Given the description of an element on the screen output the (x, y) to click on. 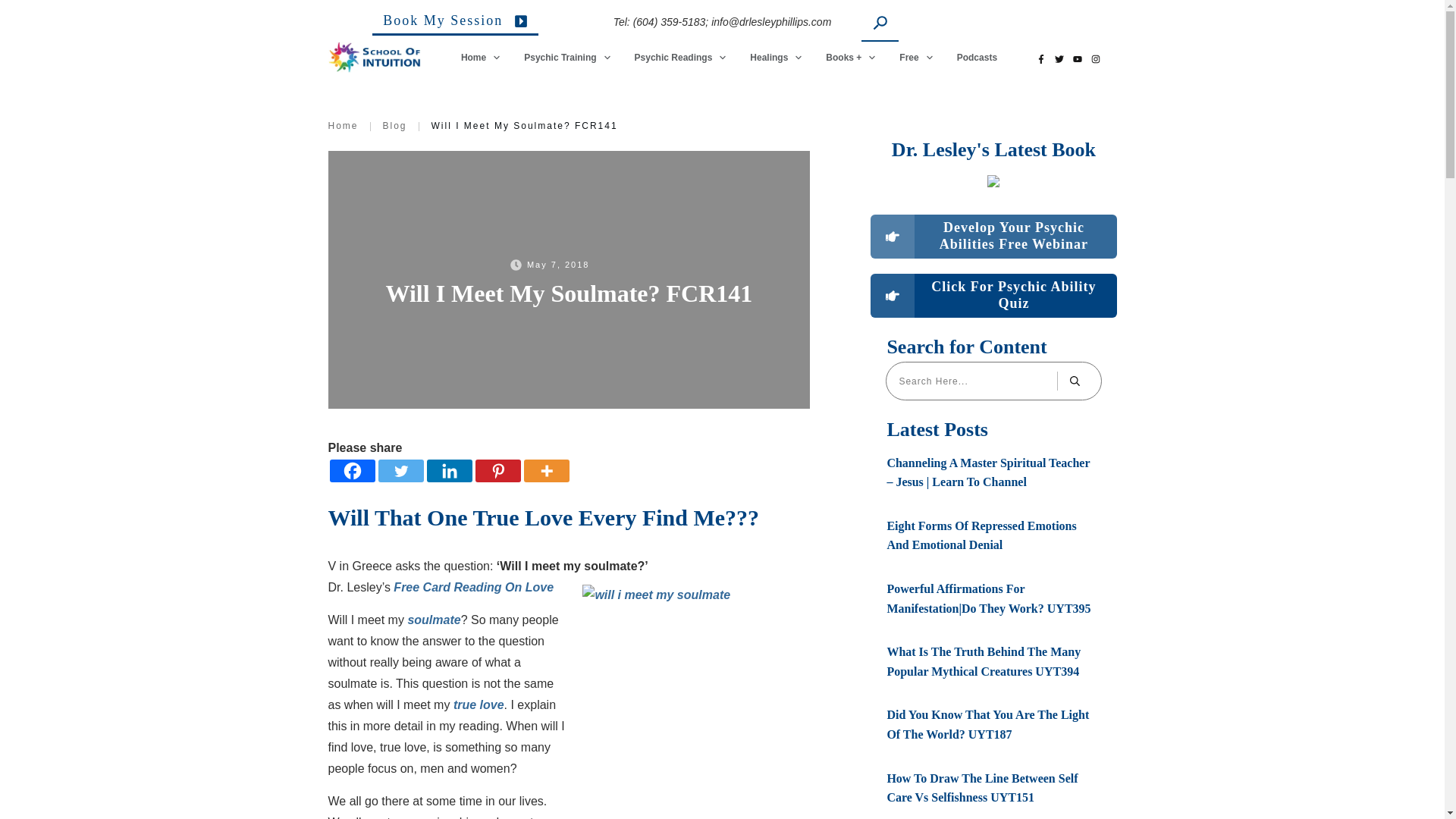
Psychic Training (567, 57)
Home (480, 57)
More (545, 470)
Eight Forms Of Repressed Emotions And Emotional Denial (980, 535)
Pinterest (496, 470)
Facebook (351, 470)
Book My Session (455, 24)
Podcasts (976, 57)
Linkedin (448, 470)
Free (916, 57)
